Given the description of an element on the screen output the (x, y) to click on. 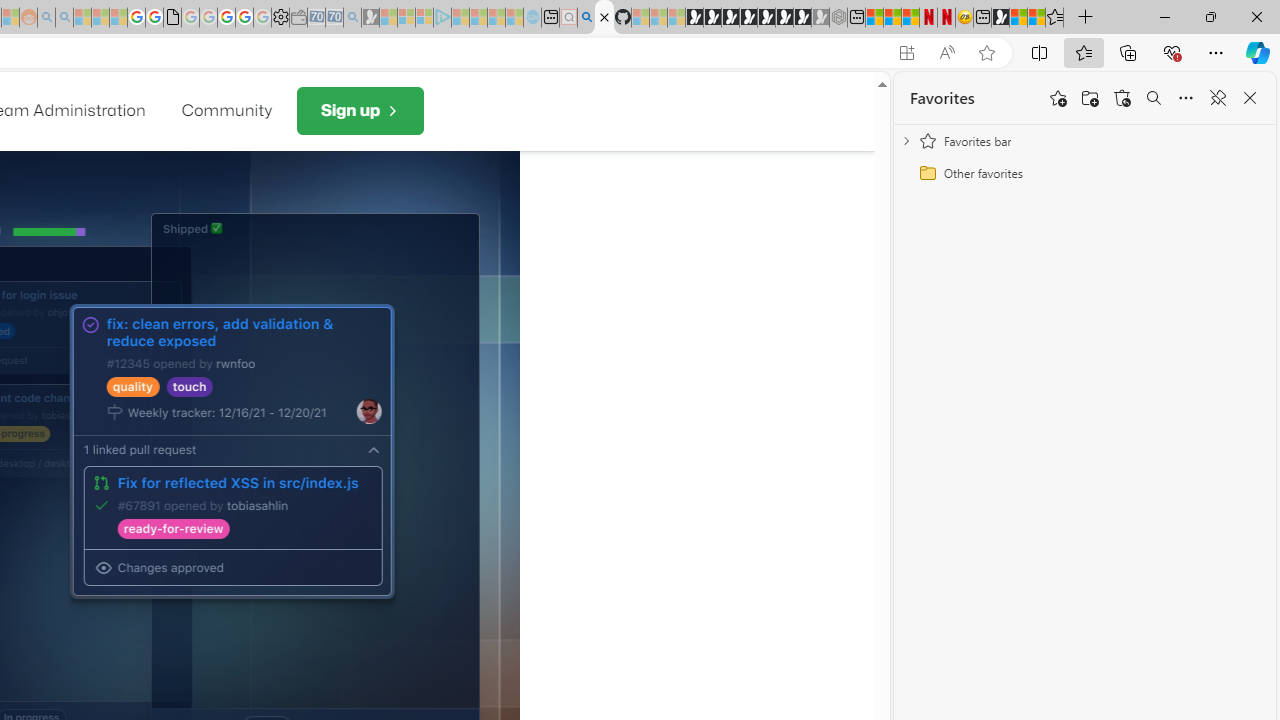
Class: octicon arrow-symbol-mktg (390, 110)
Search favorites (1153, 98)
github - Search (586, 17)
Unpin favorites (1217, 98)
Favorites (942, 98)
Microsoft account | Privacy - Sleeping (424, 17)
Community (226, 110)
